Given the description of an element on the screen output the (x, y) to click on. 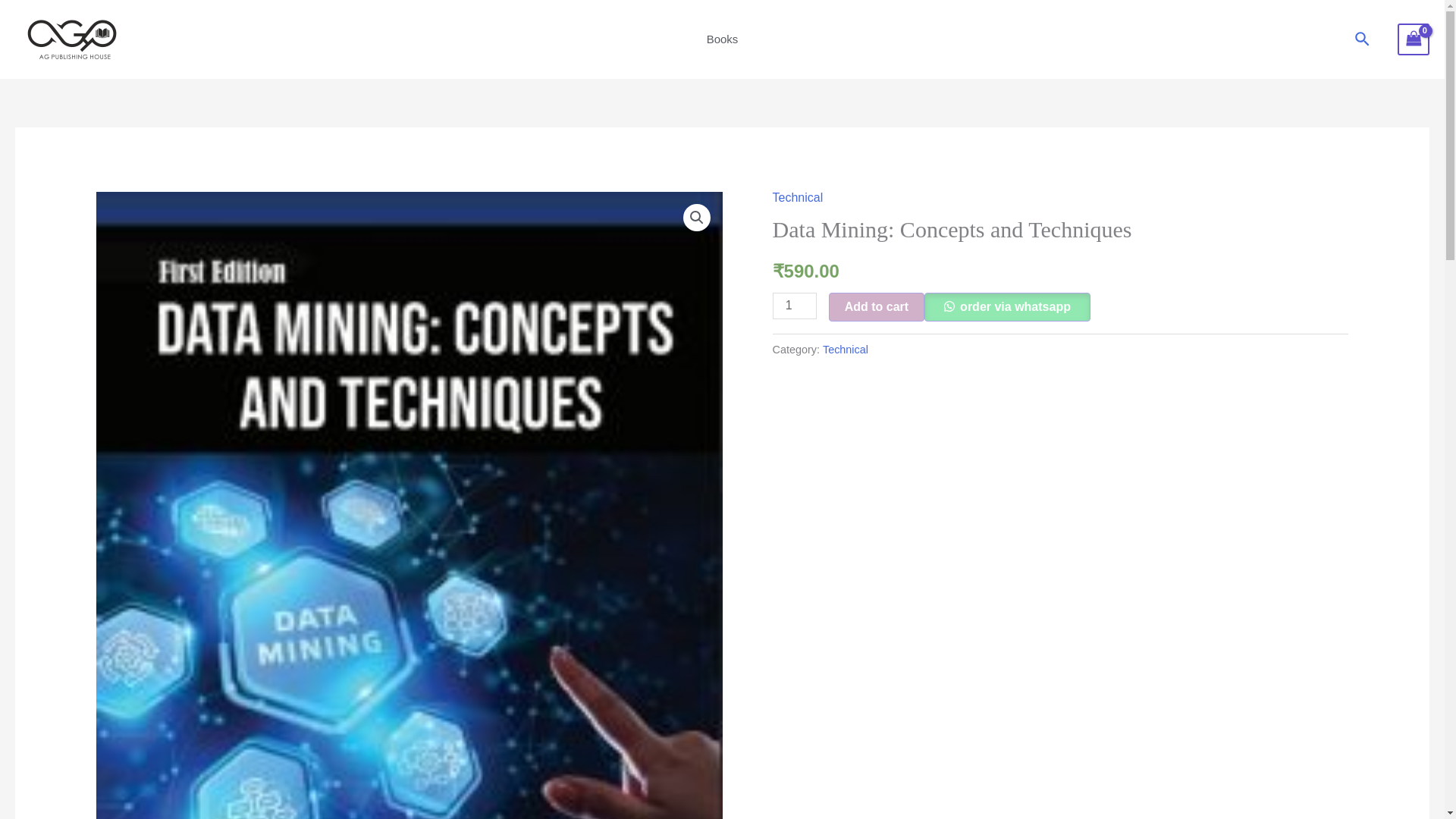
Technical (844, 349)
order via whatsapp (1007, 306)
Add to cart (876, 306)
Qty (794, 305)
1 (794, 305)
Technical (798, 196)
